Given the description of an element on the screen output the (x, y) to click on. 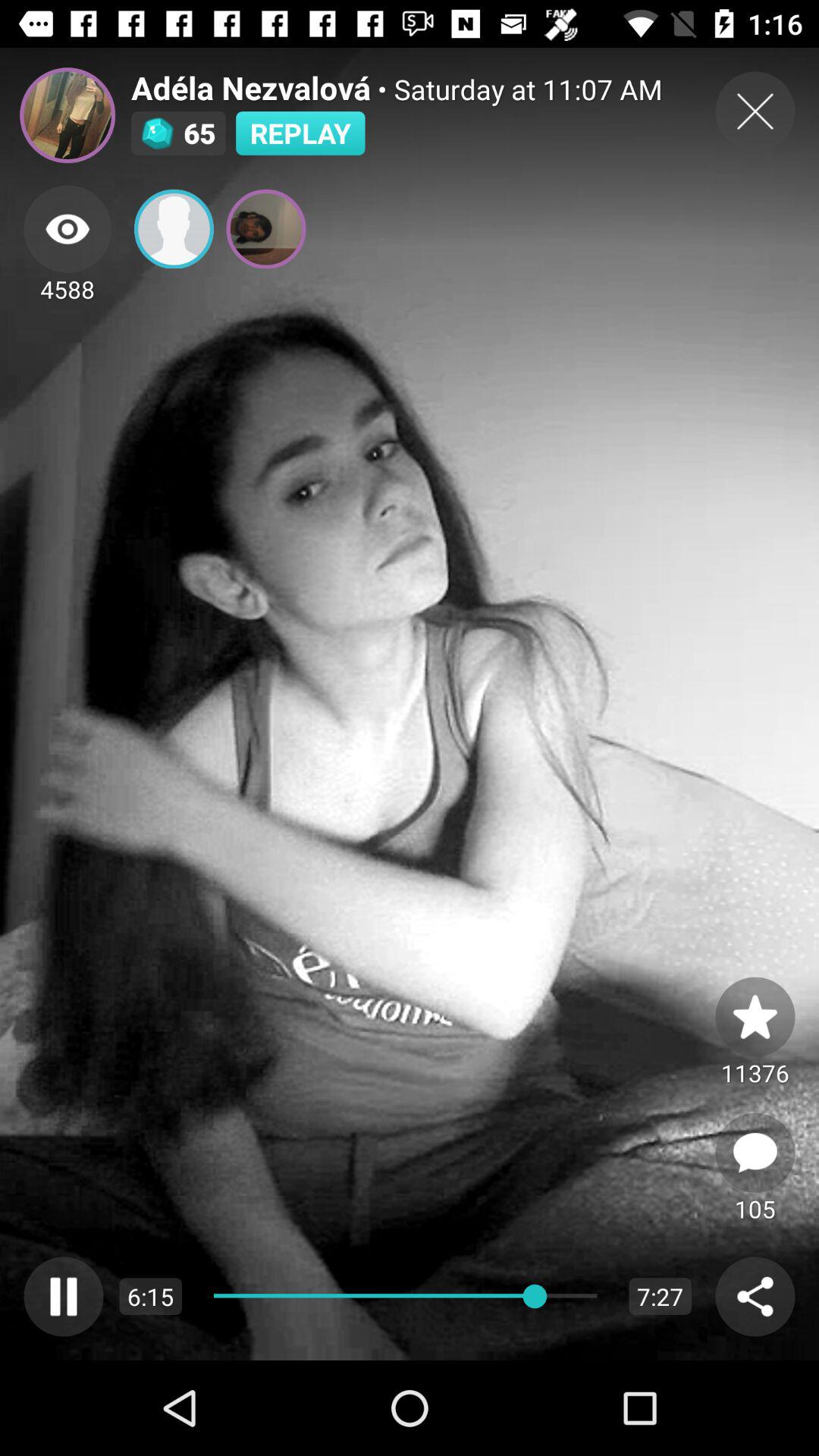
share (755, 1296)
